Given the description of an element on the screen output the (x, y) to click on. 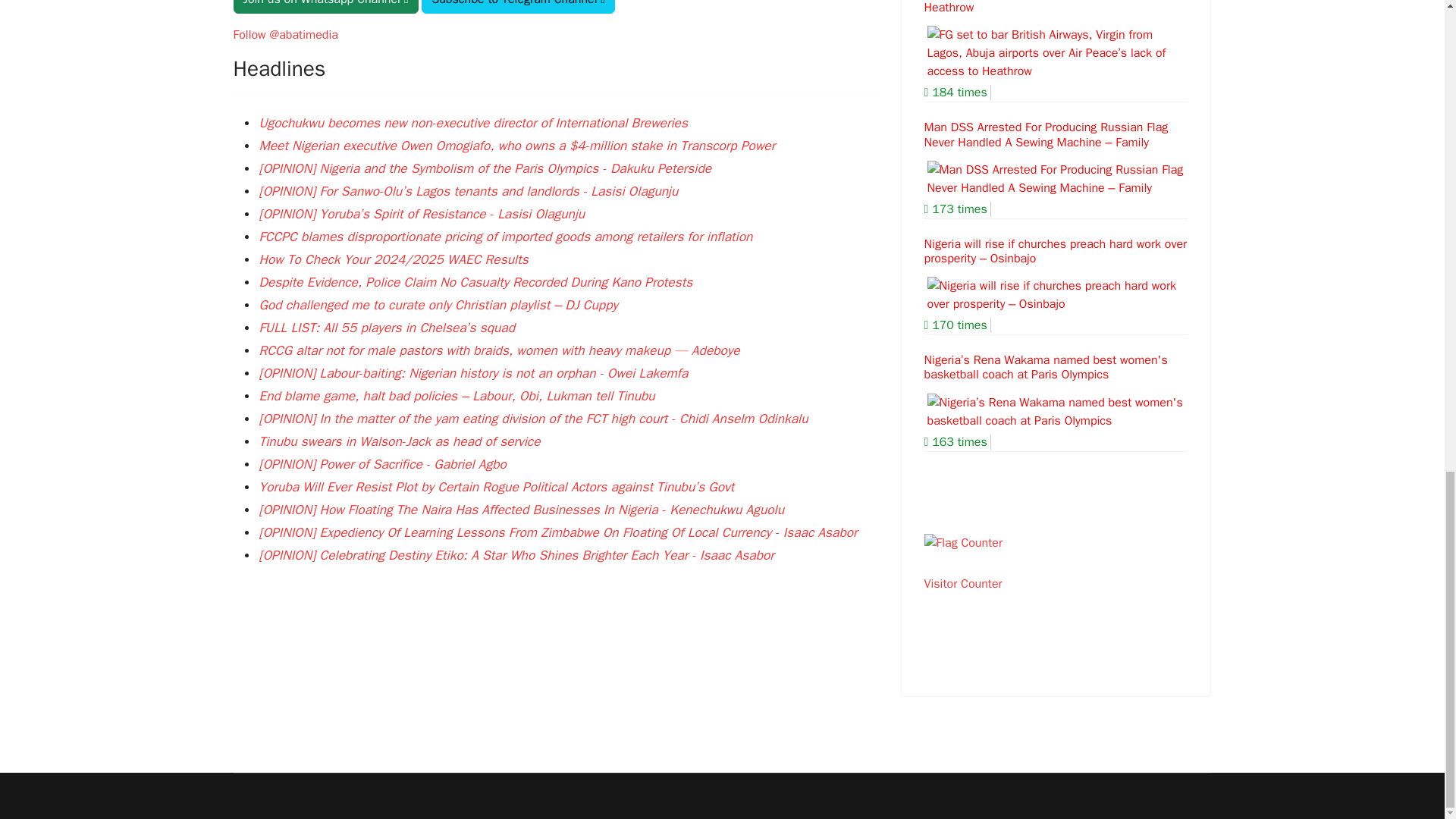
Subscribe to Telegram Channel (518, 6)
Join us on Whatsapp Channel (325, 6)
Tinubu swears in Walson-Jack as head of service (399, 441)
